Given the description of an element on the screen output the (x, y) to click on. 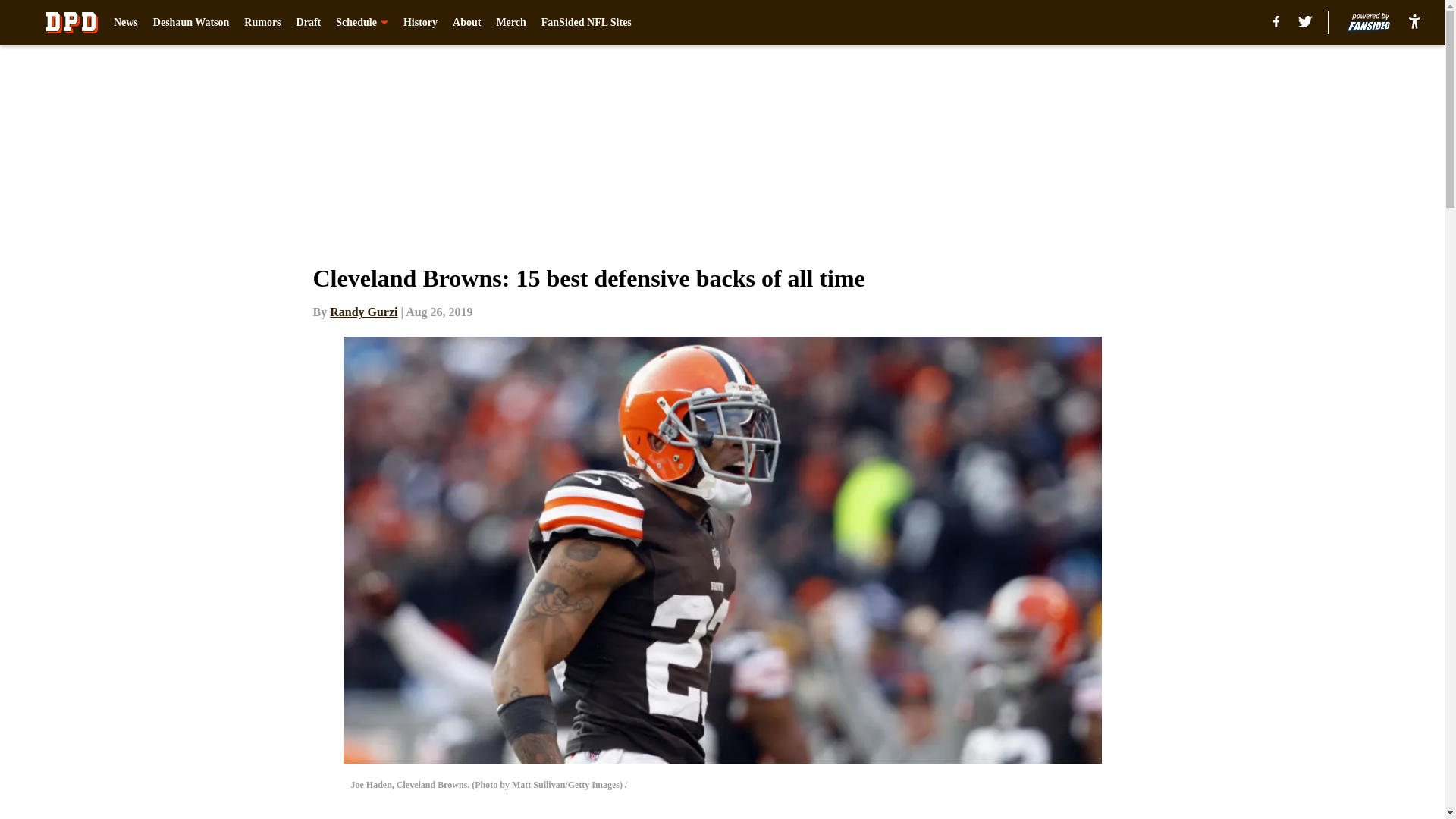
Merch (510, 22)
Randy Gurzi (363, 311)
Draft (309, 22)
About (466, 22)
News (125, 22)
Rumors (262, 22)
Deshaun Watson (191, 22)
FanSided NFL Sites (586, 22)
History (420, 22)
